Given the description of an element on the screen output the (x, y) to click on. 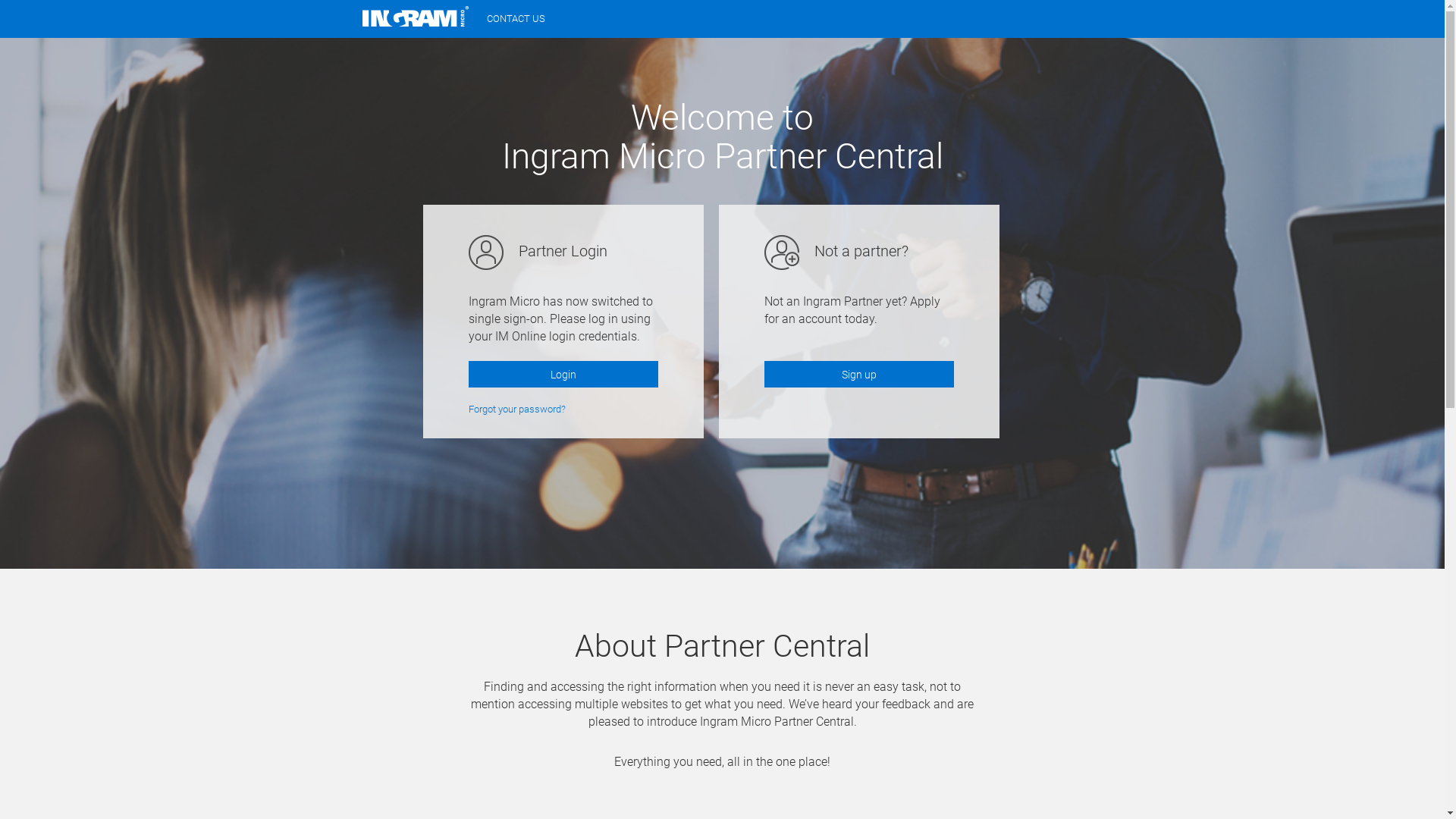
Ingram Micro Element type: hover (415, 16)
Login Element type: text (563, 373)
CONTACT US Element type: text (515, 18)
login Element type: hover (722, 302)
Sign up Element type: text (858, 373)
Forgot your password? Element type: text (516, 408)
